Given the description of an element on the screen output the (x, y) to click on. 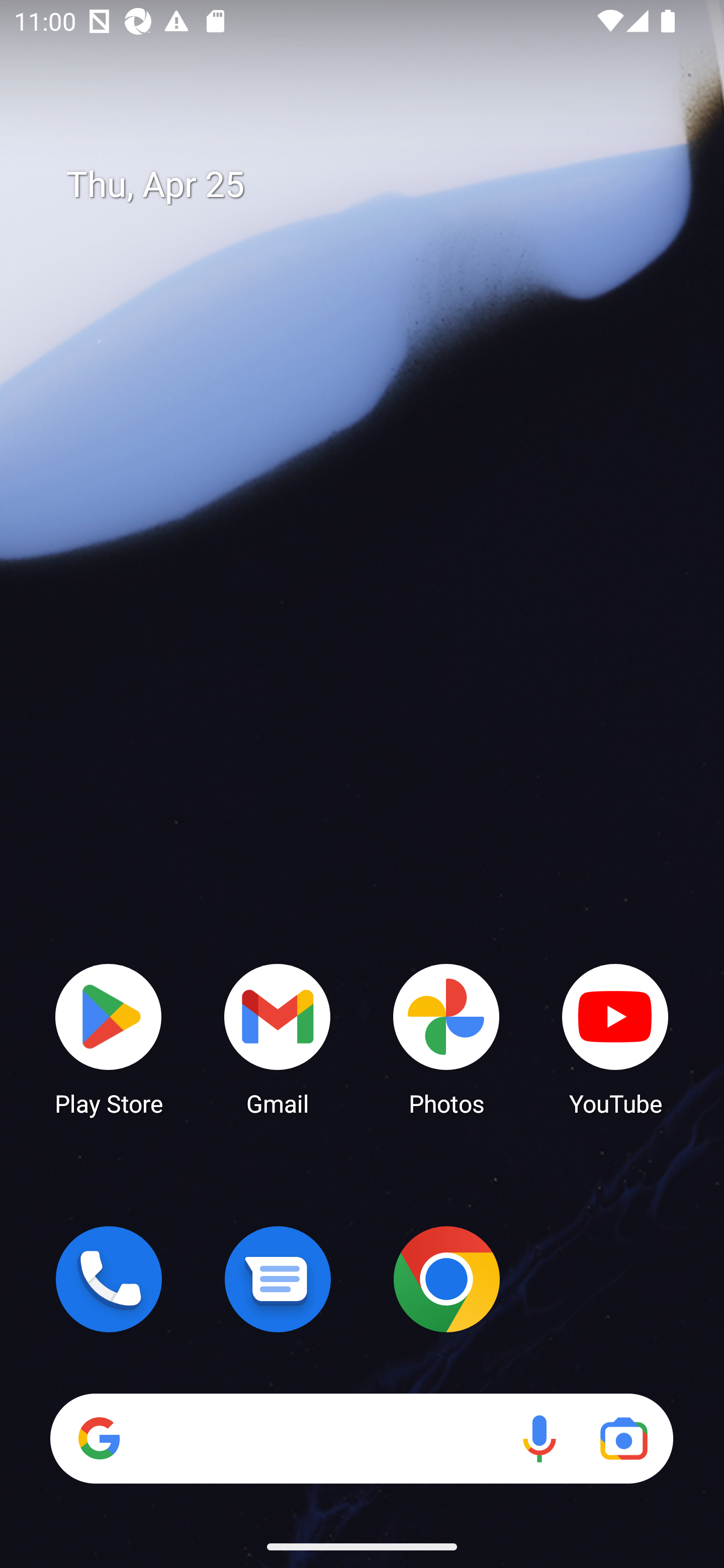
Thu, Apr 25 (375, 184)
Play Store (108, 1038)
Gmail (277, 1038)
Photos (445, 1038)
YouTube (615, 1038)
Phone (108, 1279)
Messages (277, 1279)
Chrome (446, 1279)
Search Voice search Google Lens (361, 1438)
Voice search (539, 1438)
Google Lens (623, 1438)
